Given the description of an element on the screen output the (x, y) to click on. 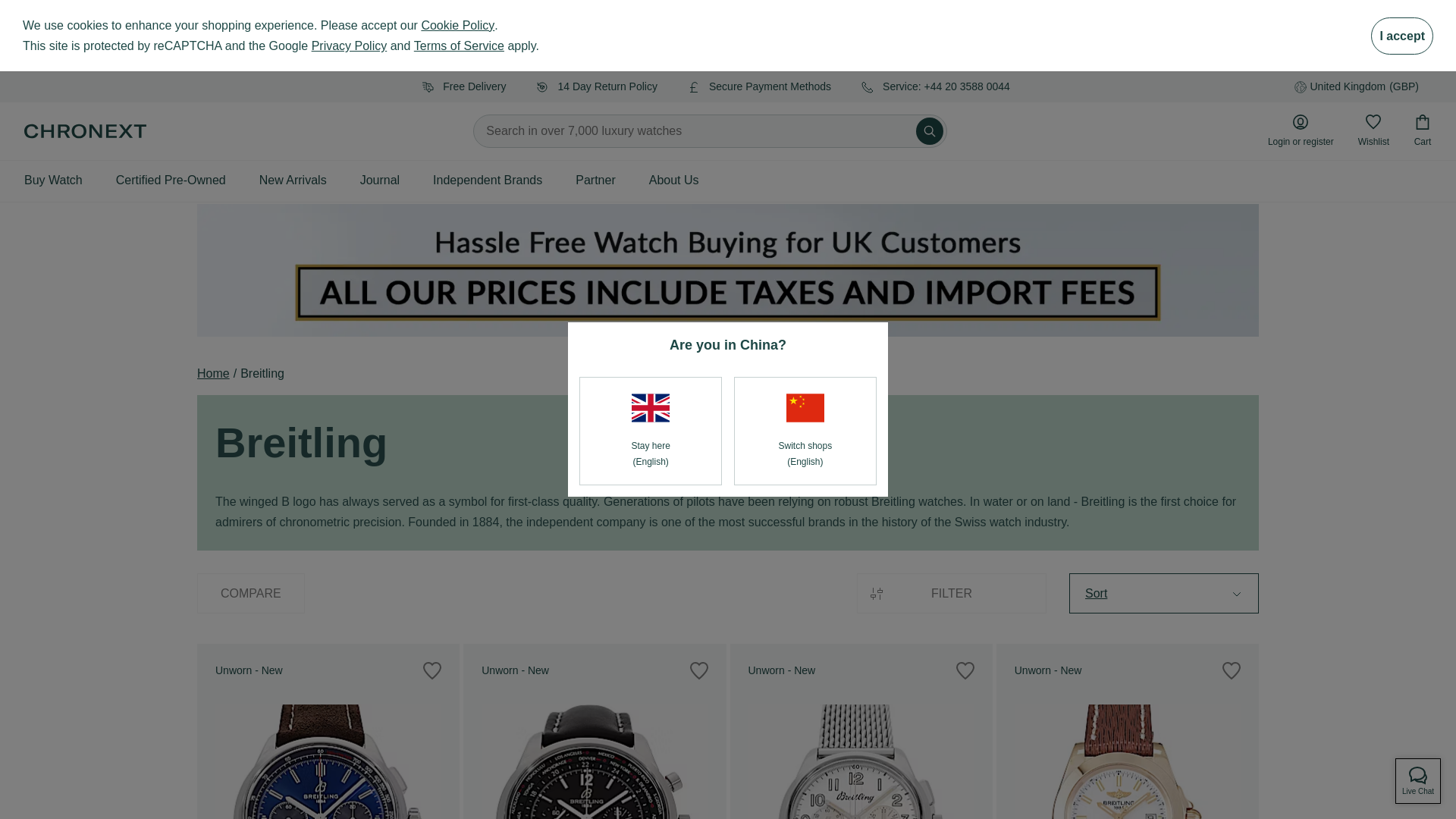
GB (650, 408)
Unworn - New (860, 731)
CN (805, 408)
COMPARE (250, 593)
Home (213, 373)
Buy Watch (53, 179)
Unworn - New (328, 731)
About Us (673, 179)
New Arrivals (292, 179)
Privacy Policy (349, 46)
